Given the description of an element on the screen output the (x, y) to click on. 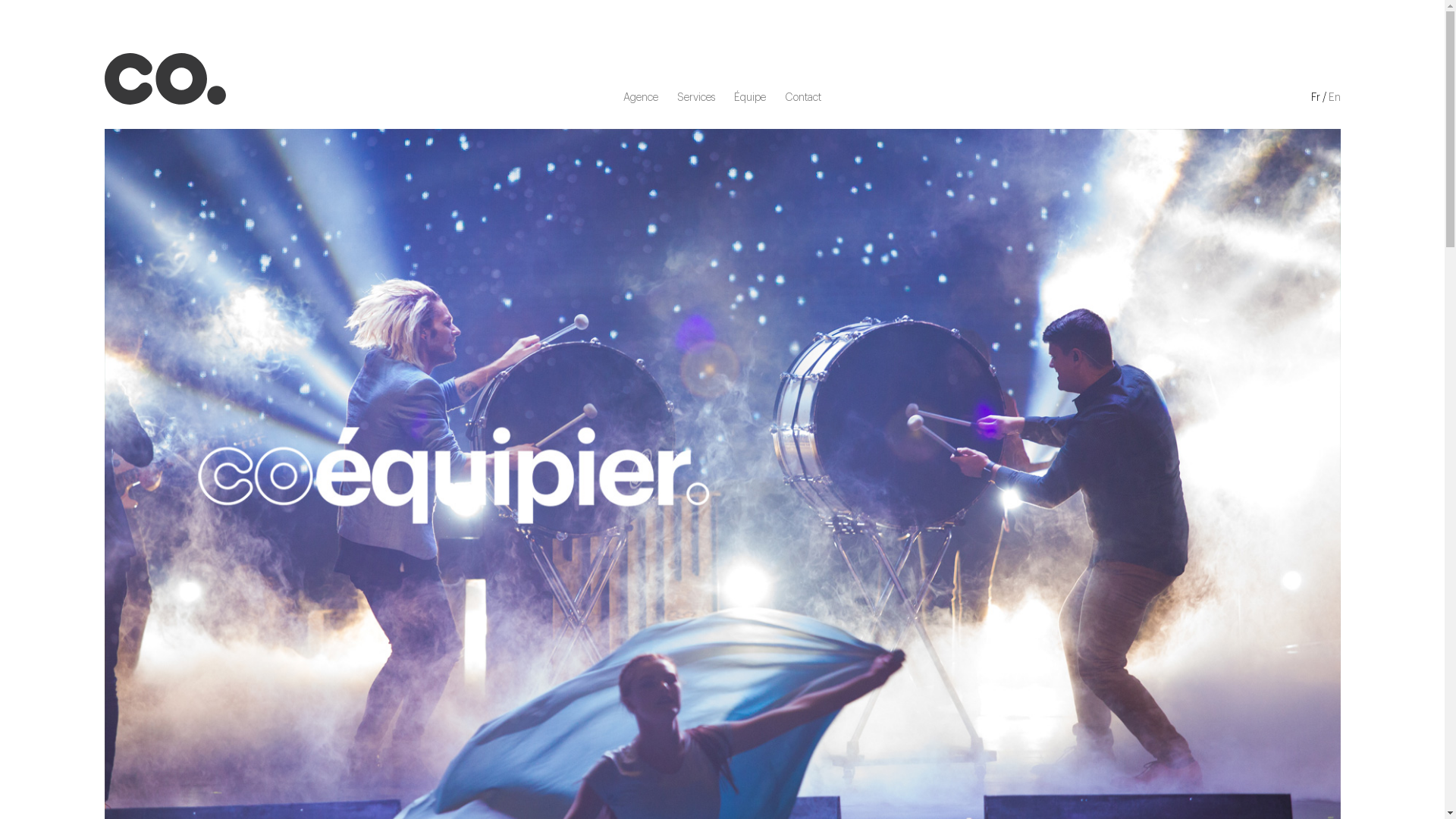
Contact Element type: text (802, 93)
En Element type: text (1334, 97)
Agence Element type: text (640, 93)
Fr Element type: text (1314, 97)
Agence Co. Element type: text (164, 79)
Services Element type: text (695, 93)
